Given the description of an element on the screen output the (x, y) to click on. 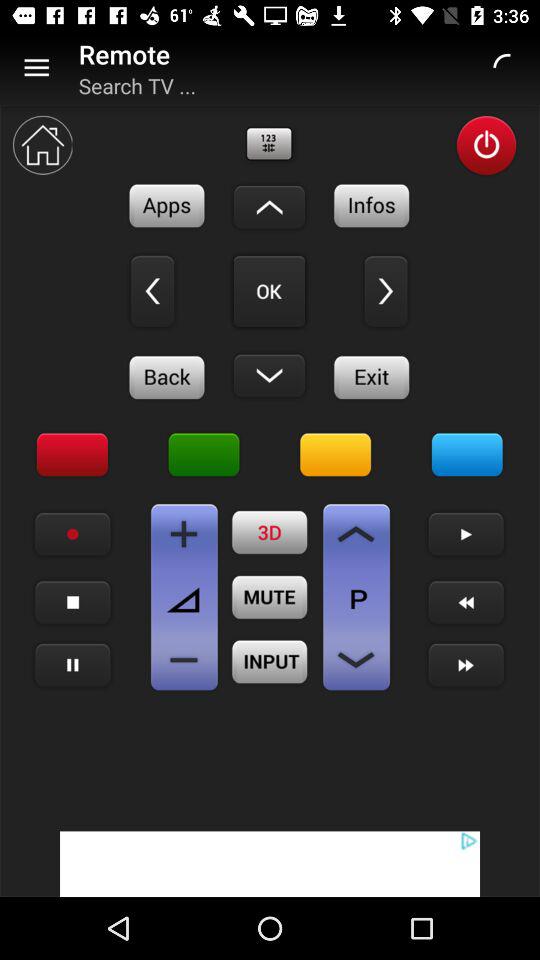
previous page (356, 534)
